Given the description of an element on the screen output the (x, y) to click on. 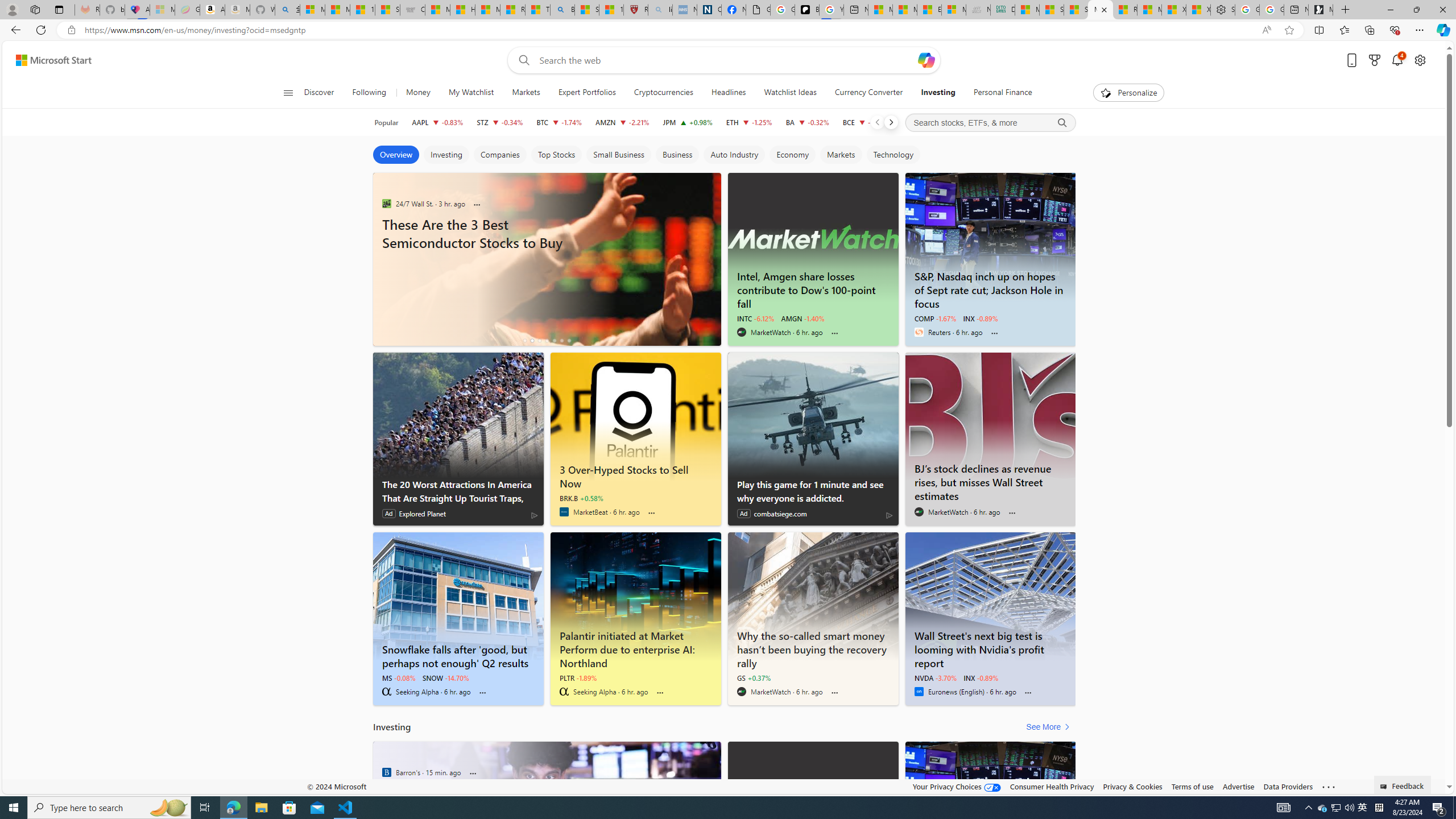
Entertainment - MSN (929, 9)
AdChoices (888, 514)
Currency Converter (868, 92)
Cryptocurrencies (663, 92)
My Watchlist (470, 92)
BA THE BOEING COMPANY decrease 172.87 -0.56 -0.32% (806, 122)
Data Providers (1288, 786)
Economy (791, 154)
